Given the description of an element on the screen output the (x, y) to click on. 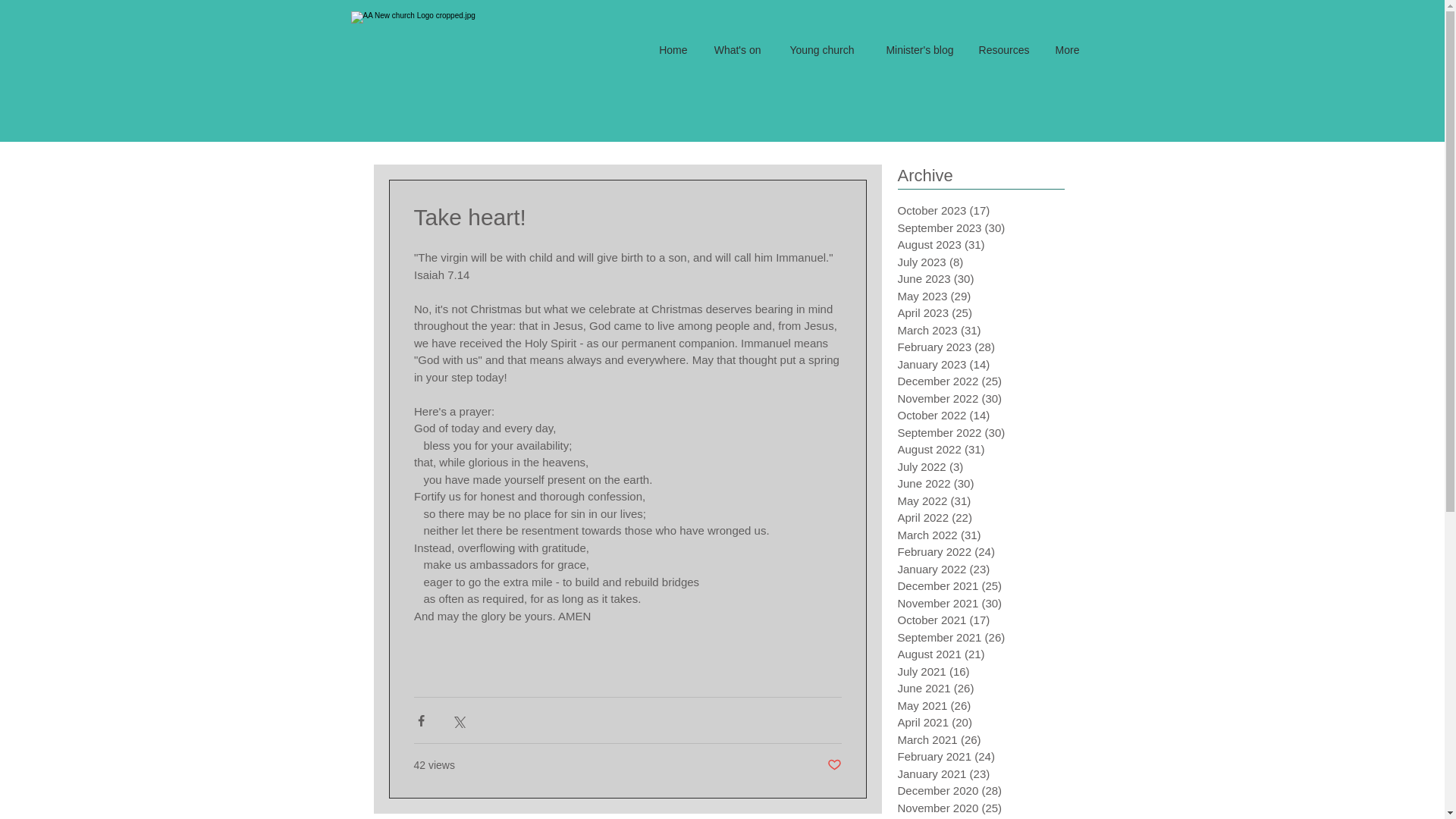
Post not marked as liked (834, 765)
What's on (735, 50)
Young church (817, 50)
Home (671, 50)
Resources (1002, 50)
Minister's blog (915, 50)
